Given the description of an element on the screen output the (x, y) to click on. 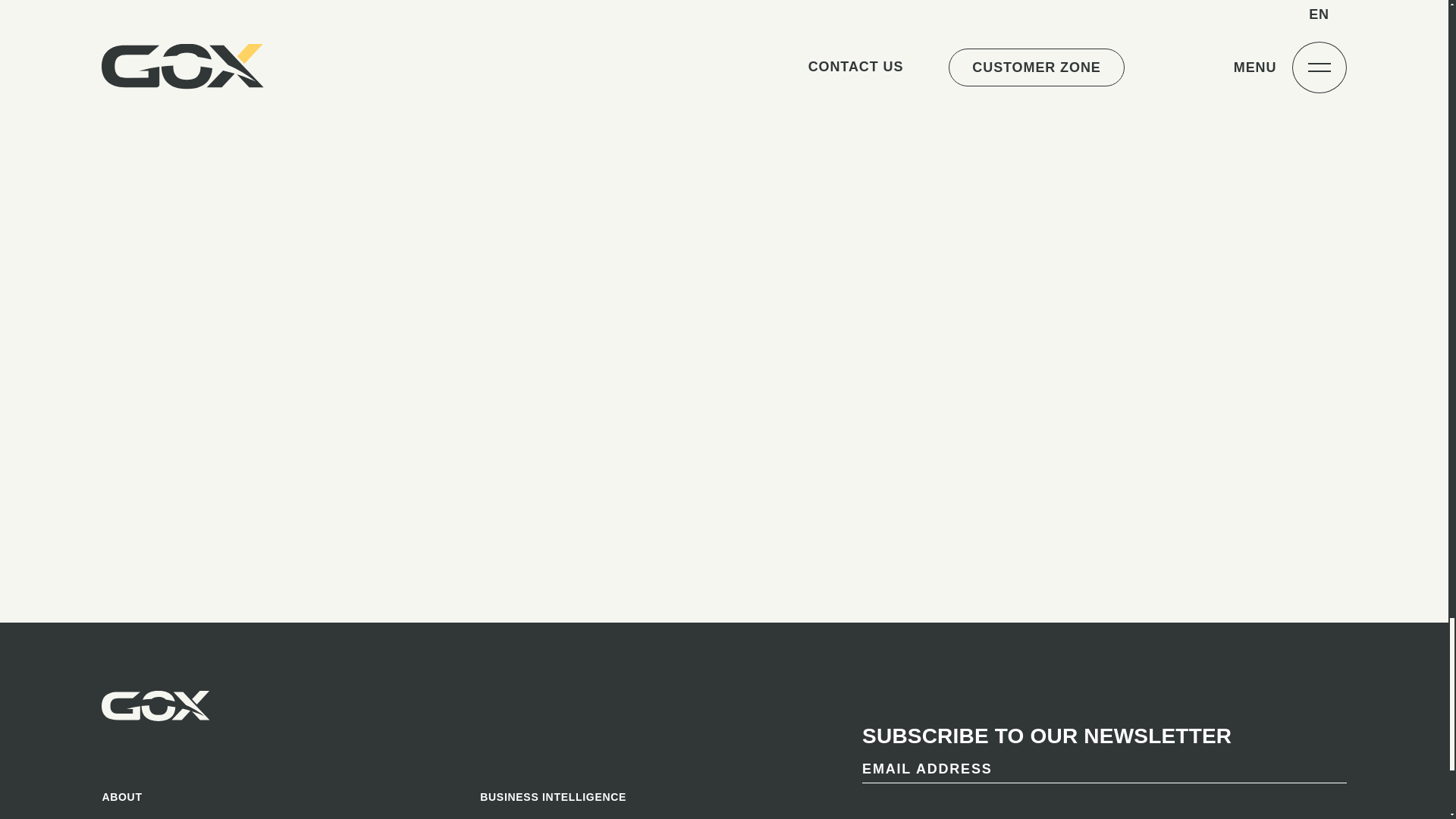
BUSINESS INTELLIGENCE (660, 796)
ABOUT (281, 796)
